Given the description of an element on the screen output the (x, y) to click on. 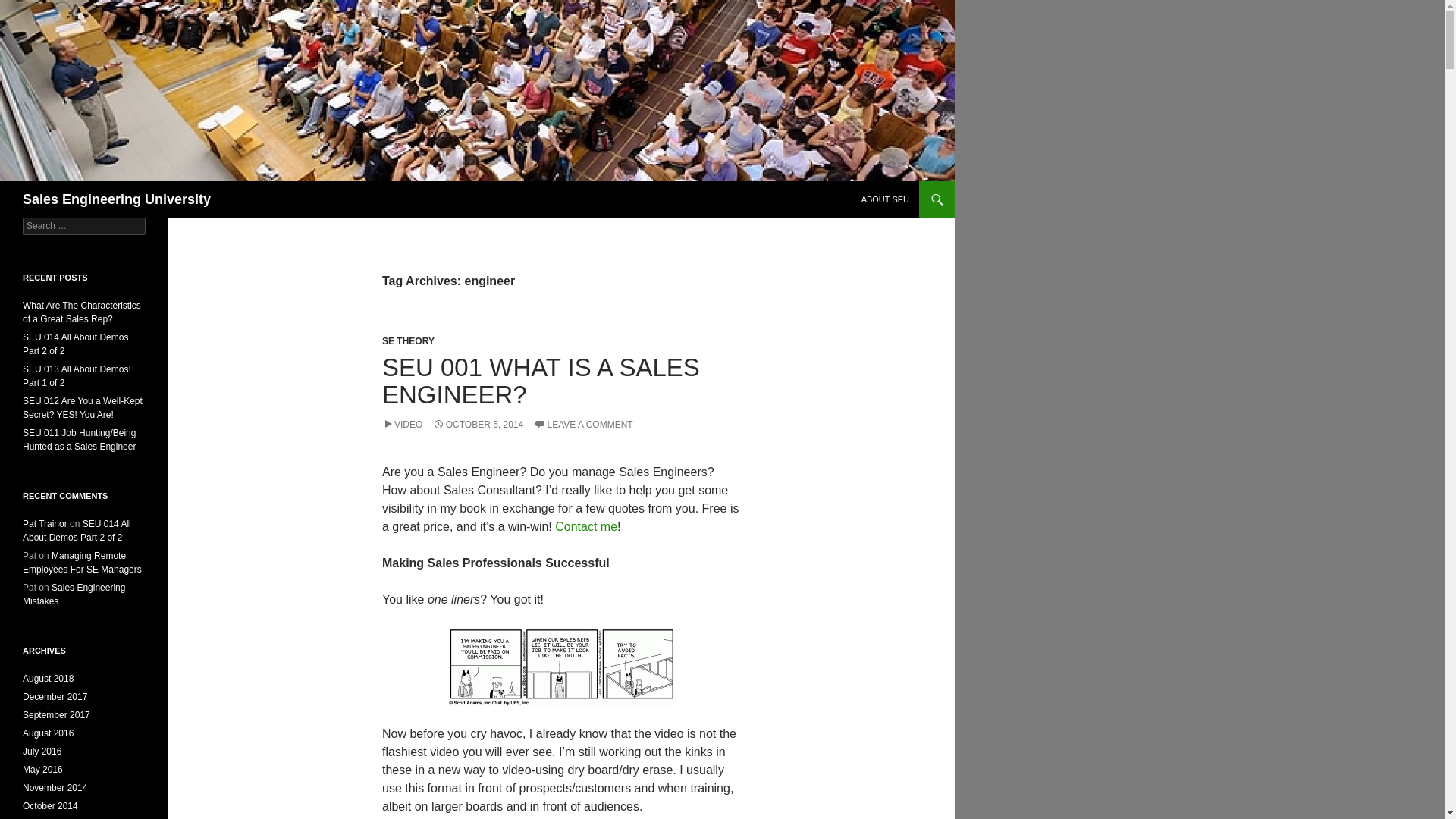
Sales Engineering University (117, 198)
OCTOBER 5, 2014 (478, 424)
SEU 001 WHAT IS A SALES ENGINEER? (540, 380)
VIDEO (401, 424)
LEAVE A COMMENT (583, 424)
Contact me (585, 526)
SE THEORY (407, 340)
ABOUT SEU (884, 198)
